Given the description of an element on the screen output the (x, y) to click on. 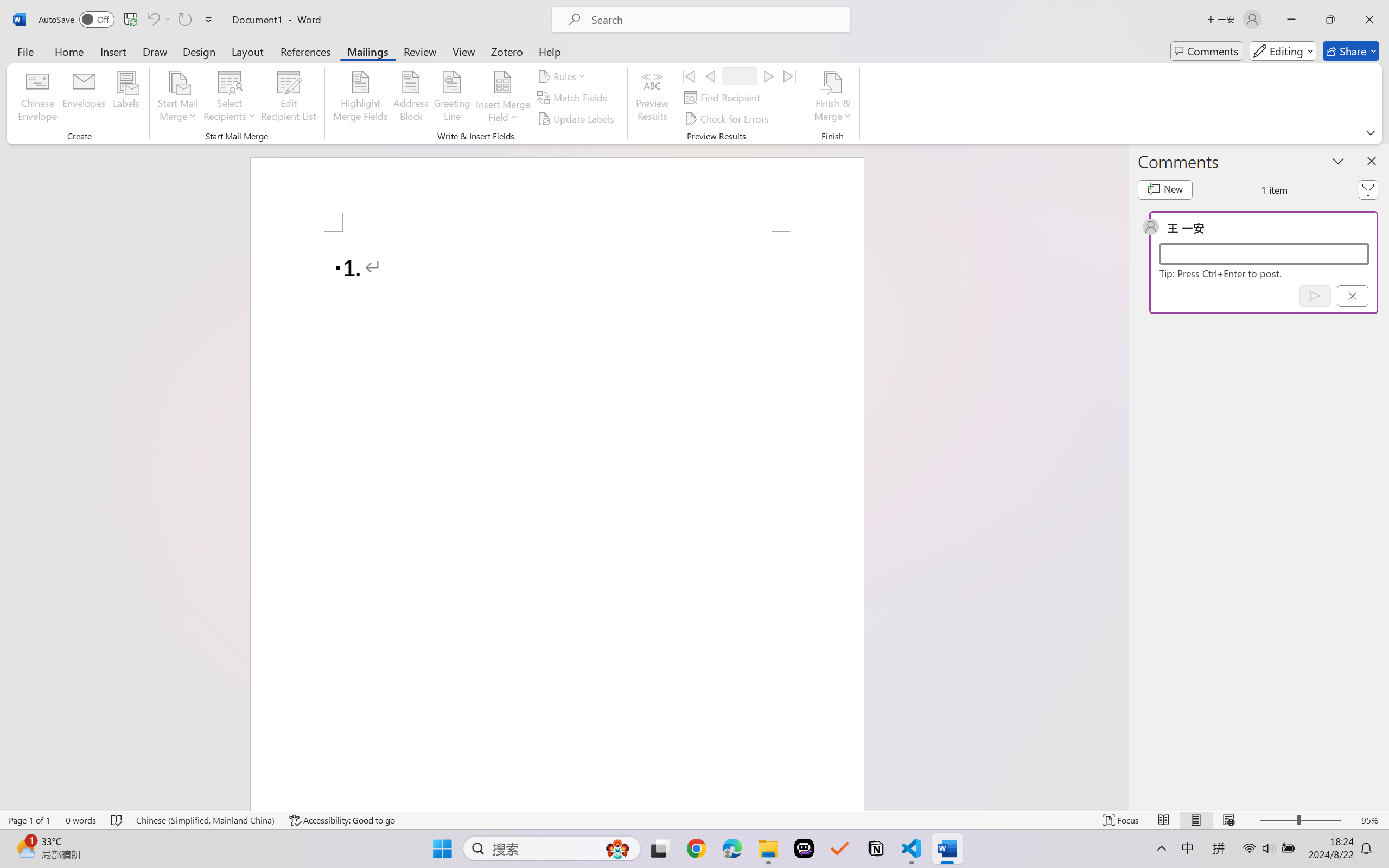
Cancel (1352, 295)
Match Fields... (573, 97)
Zoom 95% (1372, 819)
Undo Number Default (158, 19)
Chinese Envelope... (37, 97)
Preview Results (652, 97)
Select Recipients (229, 97)
